Given the description of an element on the screen output the (x, y) to click on. 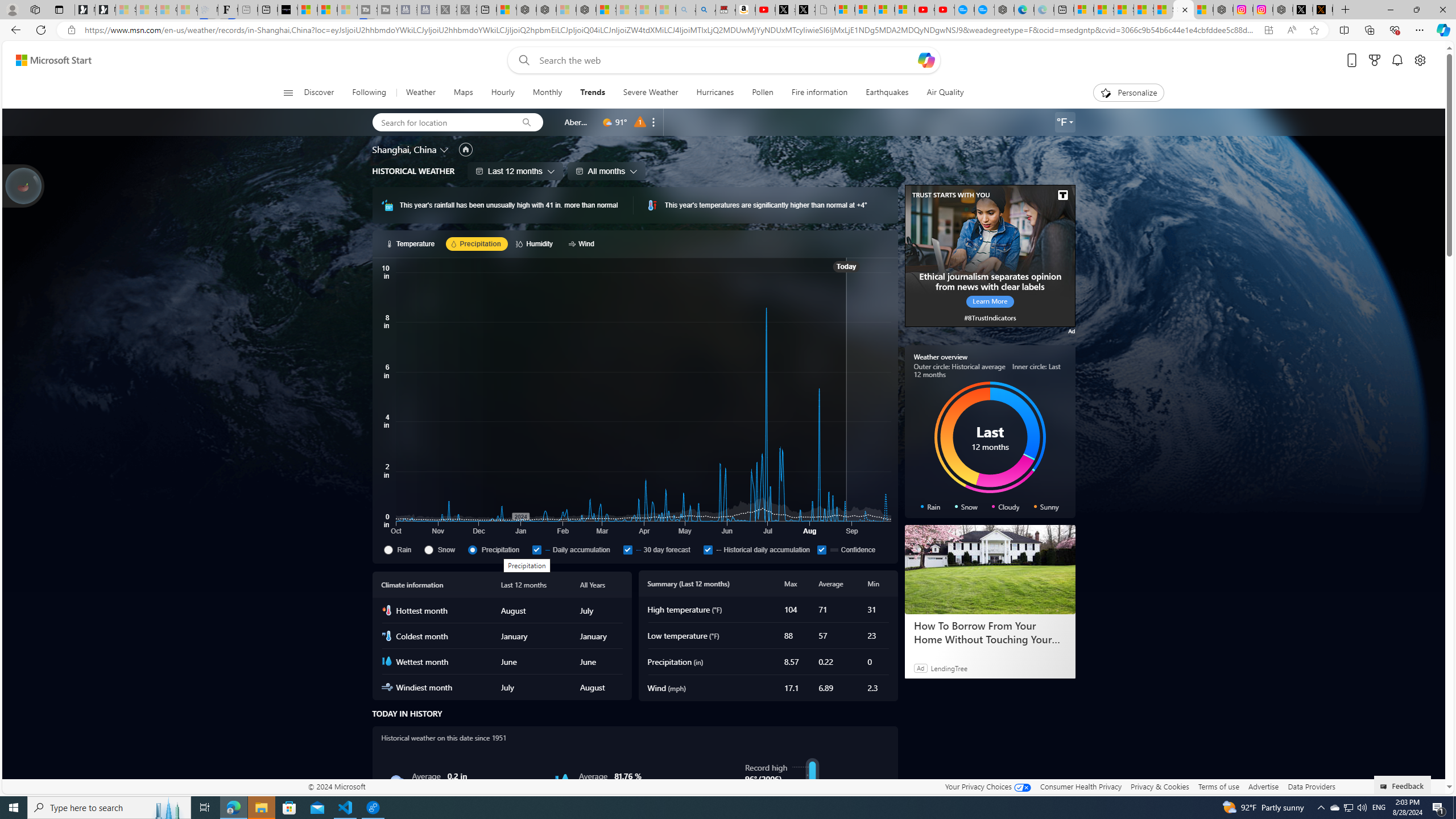
Precipitation (472, 549)
Search for location (440, 122)
Set as primary location (465, 149)
Open navigation menu (287, 92)
Shanghai, China (403, 149)
Snow (428, 549)
Web search (520, 60)
Pollen (762, 92)
Humidity (536, 243)
